Given the description of an element on the screen output the (x, y) to click on. 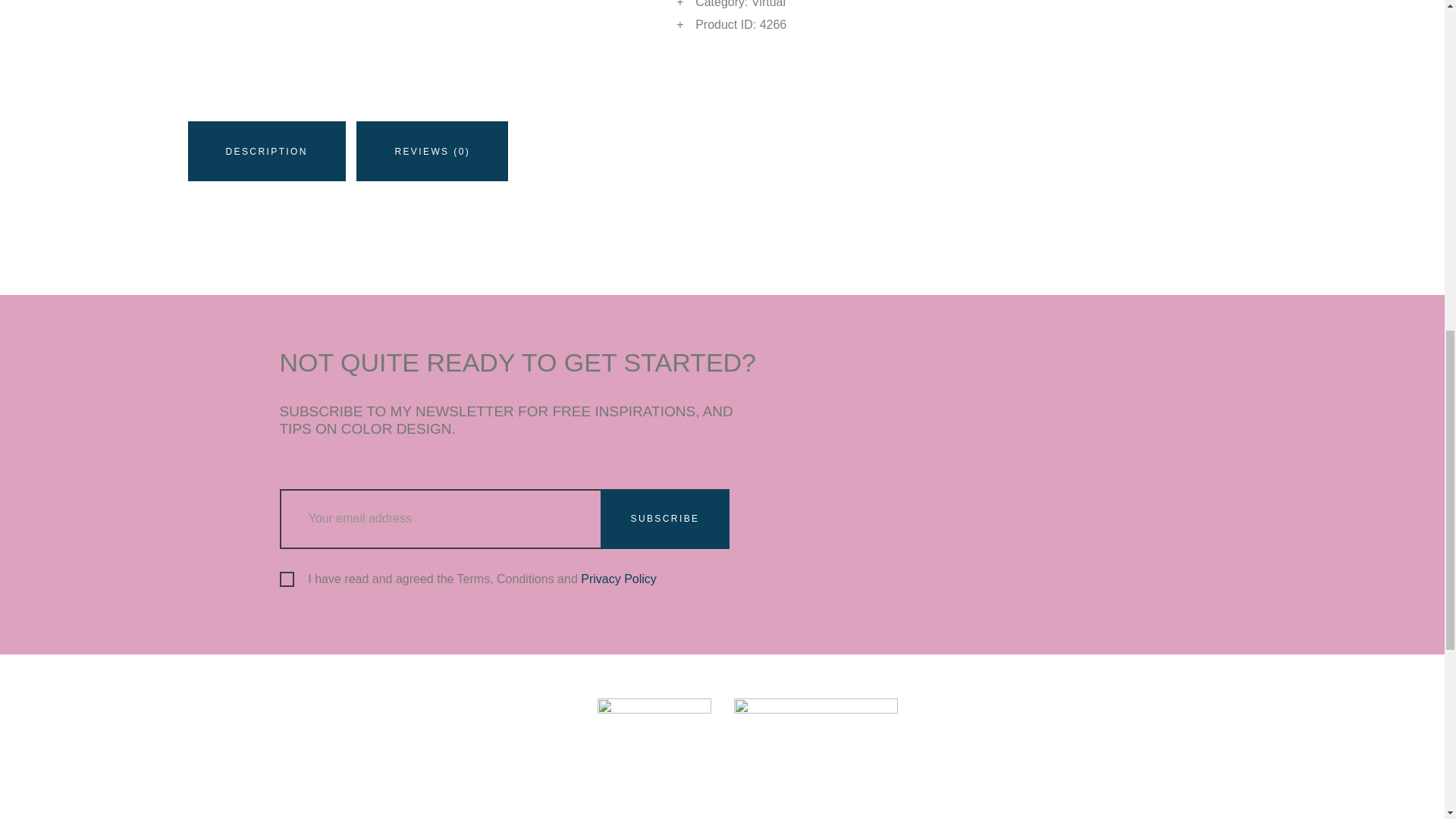
1 (283, 576)
DESCRIPTION (266, 150)
Virtual (768, 4)
SUBSCRIBE (664, 518)
Privacy Policy (618, 578)
